Given the description of an element on the screen output the (x, y) to click on. 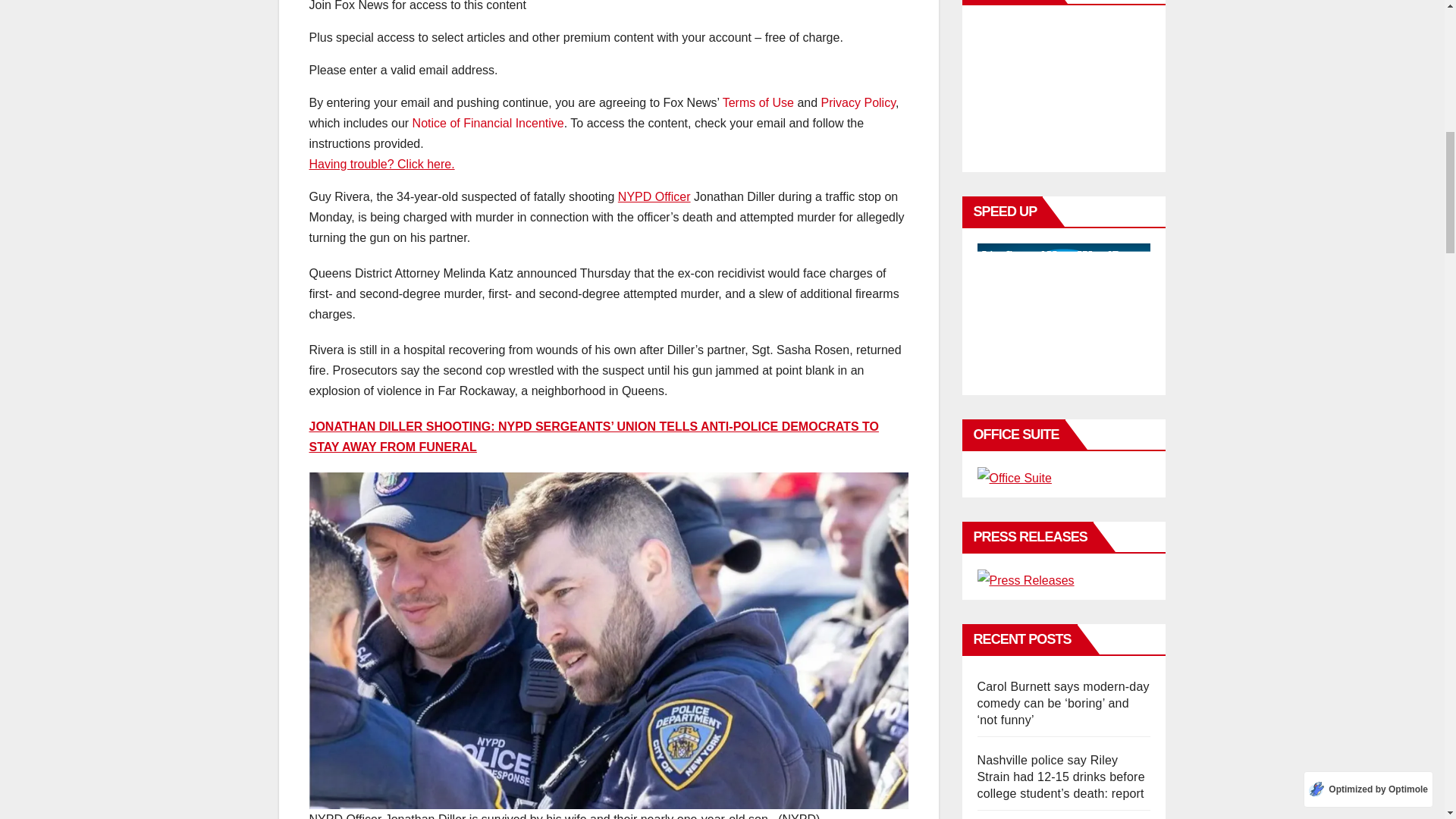
Having trouble? Click here. (381, 164)
Notice of Financial Incentive (488, 123)
Privacy Policy (858, 102)
Terms of Use (757, 102)
NYPD Officer (653, 196)
